Given the description of an element on the screen output the (x, y) to click on. 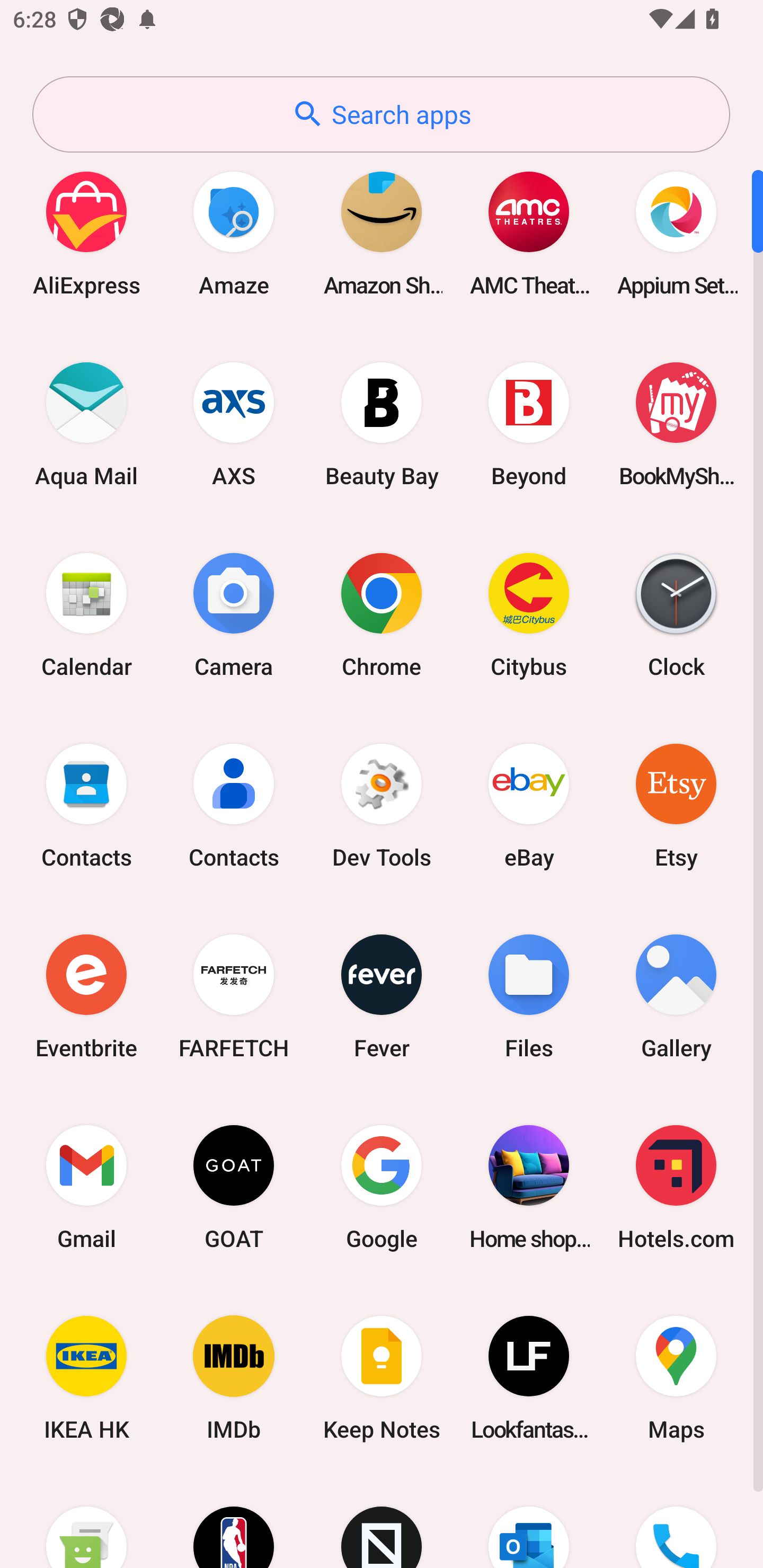
  Search apps (381, 114)
AliExpress (86, 233)
Amaze (233, 233)
Amazon Shopping (381, 233)
AMC Theatres (528, 233)
Appium Settings (676, 233)
Aqua Mail (86, 424)
AXS (233, 424)
Beauty Bay (381, 424)
Beyond (528, 424)
BookMyShow (676, 424)
Calendar (86, 614)
Camera (233, 614)
Chrome (381, 614)
Citybus (528, 614)
Clock (676, 614)
Contacts (86, 805)
Contacts (233, 805)
Dev Tools (381, 805)
eBay (528, 805)
Etsy (676, 805)
Eventbrite (86, 996)
FARFETCH (233, 996)
Fever (381, 996)
Files (528, 996)
Gallery (676, 996)
Gmail (86, 1186)
GOAT (233, 1186)
Google (381, 1186)
Home shopping (528, 1186)
Hotels.com (676, 1186)
IKEA HK (86, 1377)
IMDb (233, 1377)
Keep Notes (381, 1377)
Lookfantastic (528, 1377)
Maps (676, 1377)
